Given the description of an element on the screen output the (x, y) to click on. 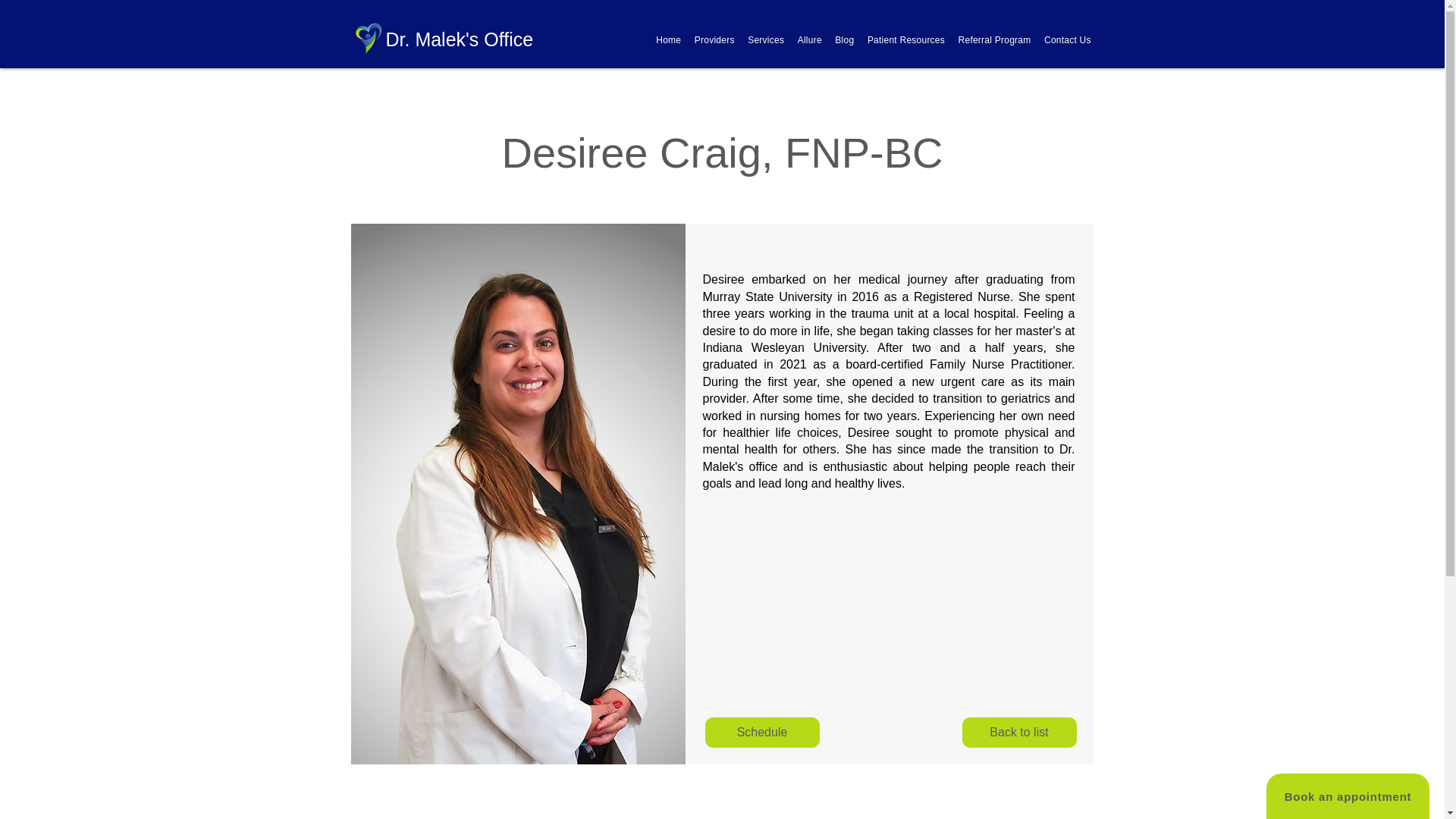
Dr. Malek's Office (367, 37)
Referral Program (994, 39)
Back to list (1017, 732)
Contact Us (1067, 39)
Dr. Malek's Office (458, 38)
Providers (713, 39)
Schedule (761, 732)
Blog (844, 39)
Services (765, 39)
Allure (809, 39)
